Given the description of an element on the screen output the (x, y) to click on. 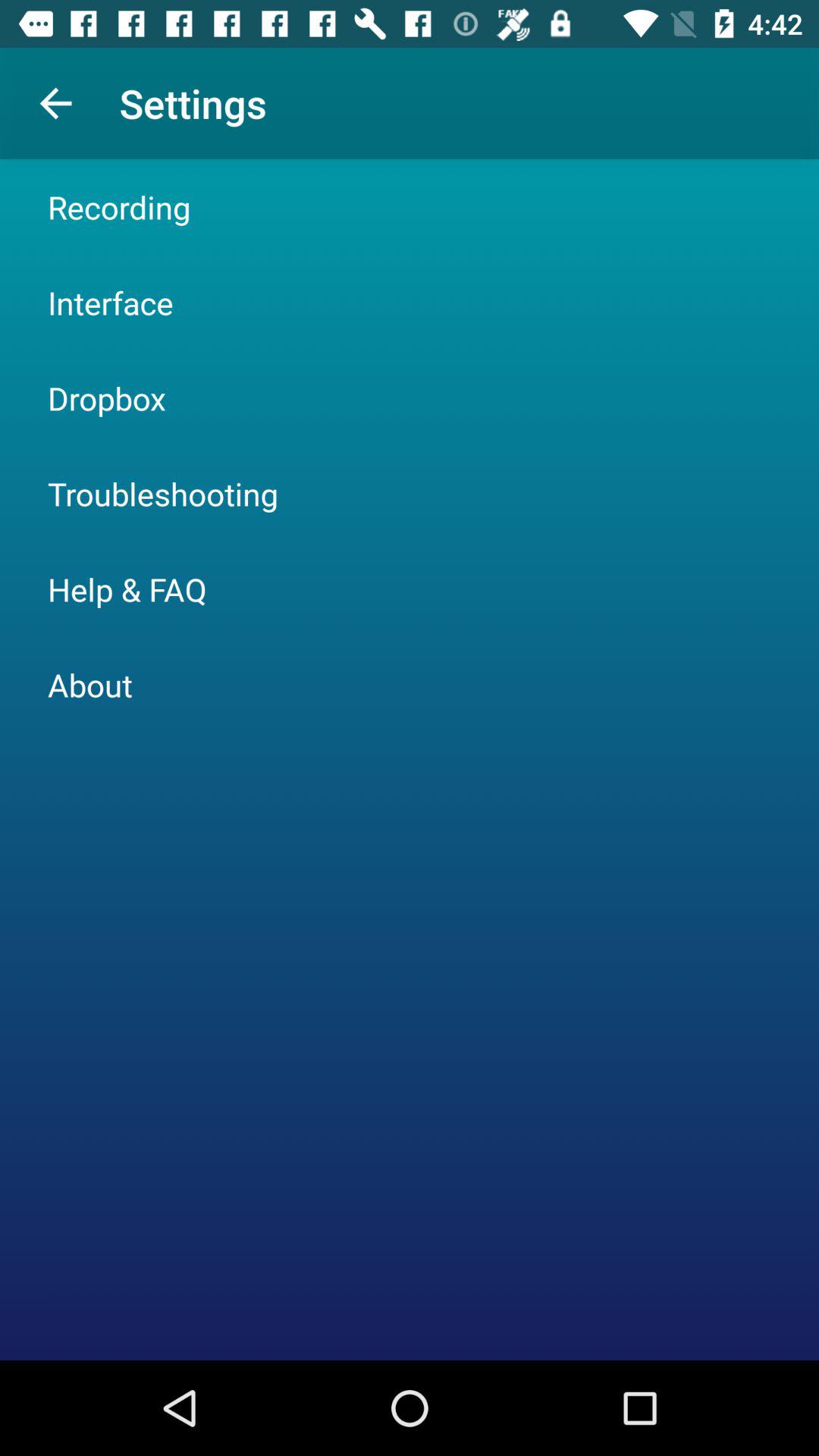
flip to the interface icon (110, 302)
